Given the description of an element on the screen output the (x, y) to click on. 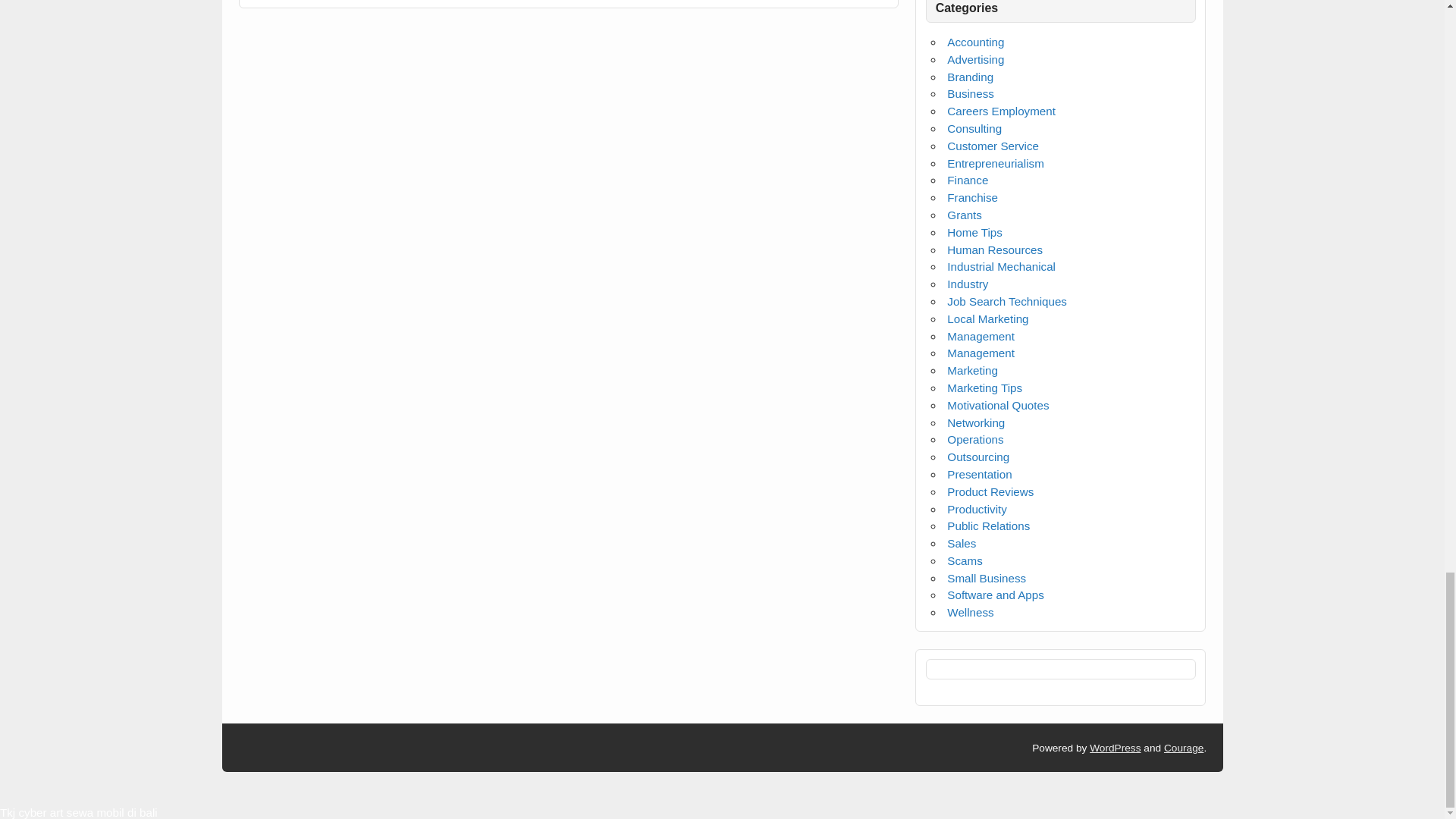
Courage WordPress Theme (1183, 747)
WordPress (1114, 747)
